Given the description of an element on the screen output the (x, y) to click on. 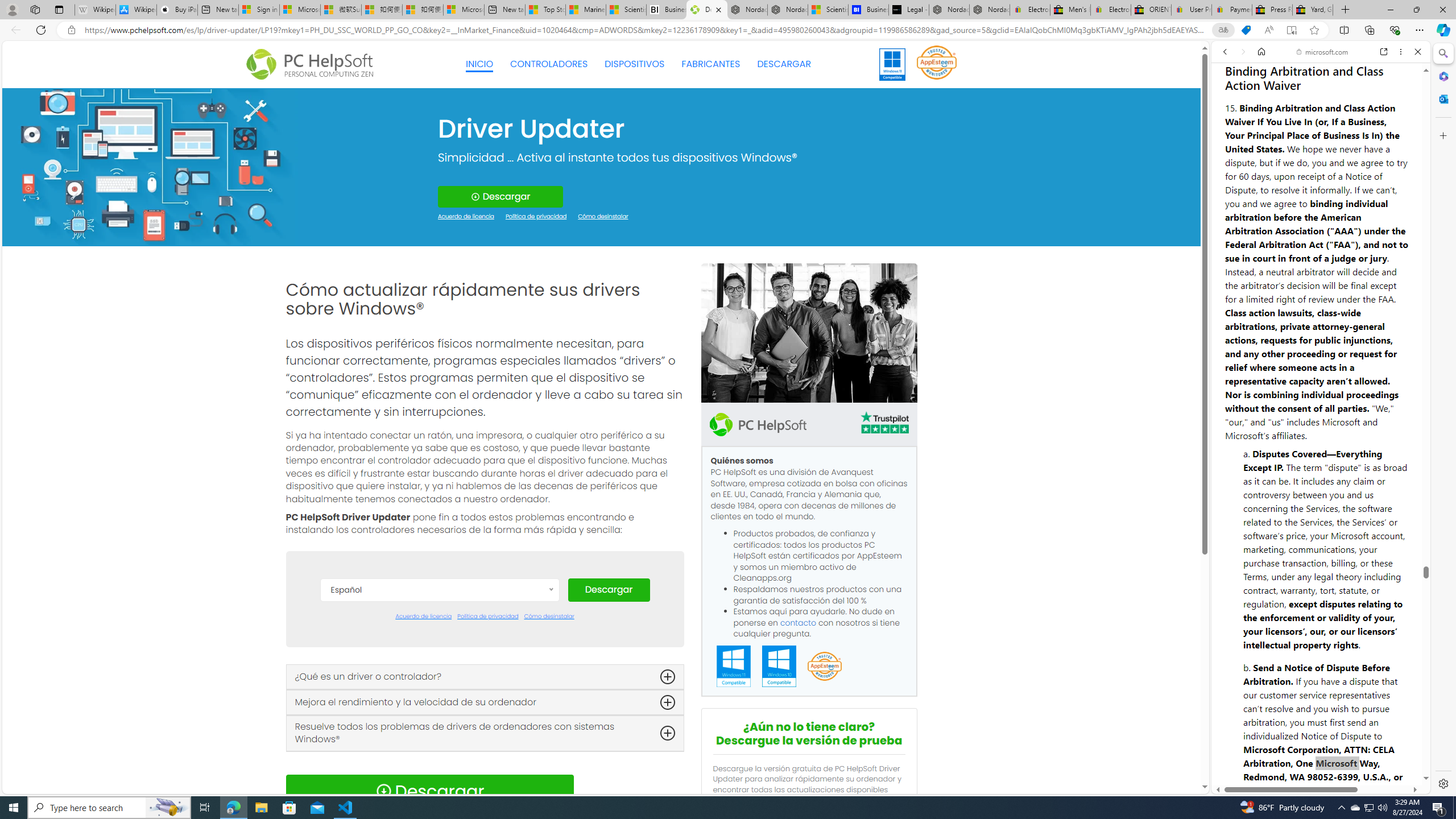
TrustPilot (884, 422)
INICIO (479, 64)
Generic (150, 166)
English (439, 695)
Open in New Tab (1321, 768)
